Given the description of an element on the screen output the (x, y) to click on. 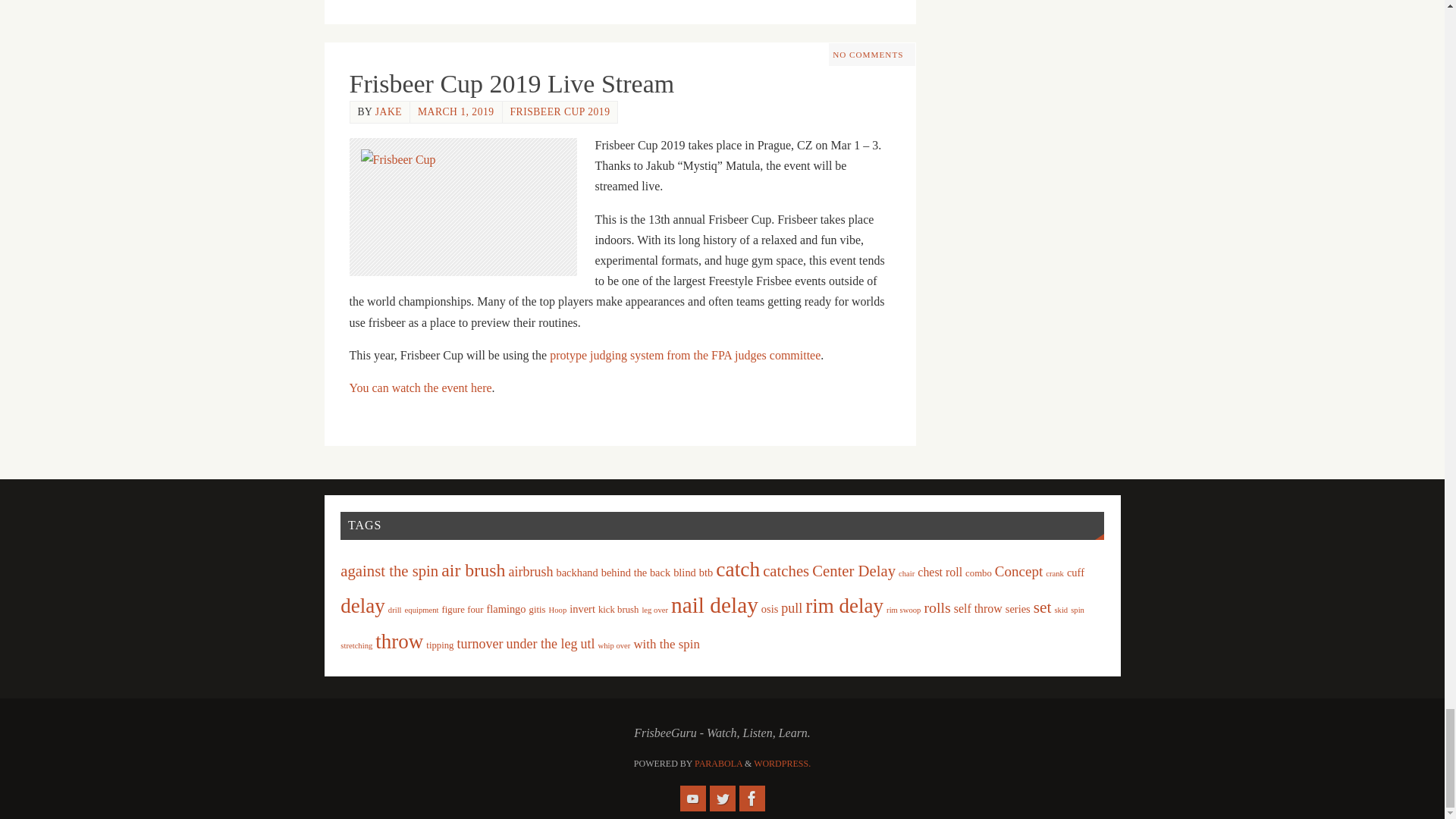
View all posts by Jake (388, 111)
Permalink to Frisbeer Cup 2019 Live Stream (511, 83)
